Given the description of an element on the screen output the (x, y) to click on. 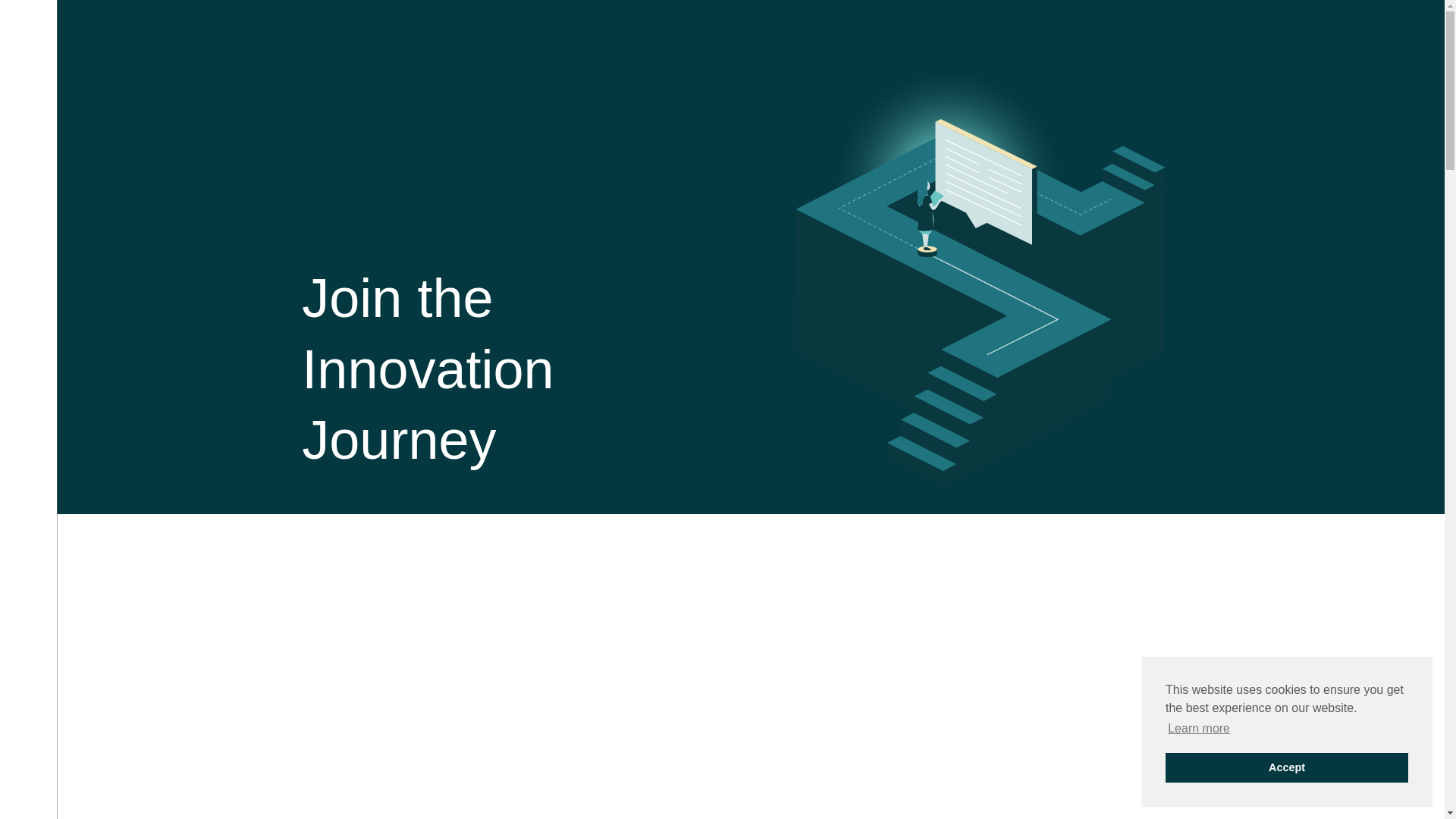
iiCON (382, 131)
Linkedin (28, 777)
Accept (1286, 767)
Twitter (28, 760)
YouTube (28, 795)
Learn more (1198, 728)
